Given the description of an element on the screen output the (x, y) to click on. 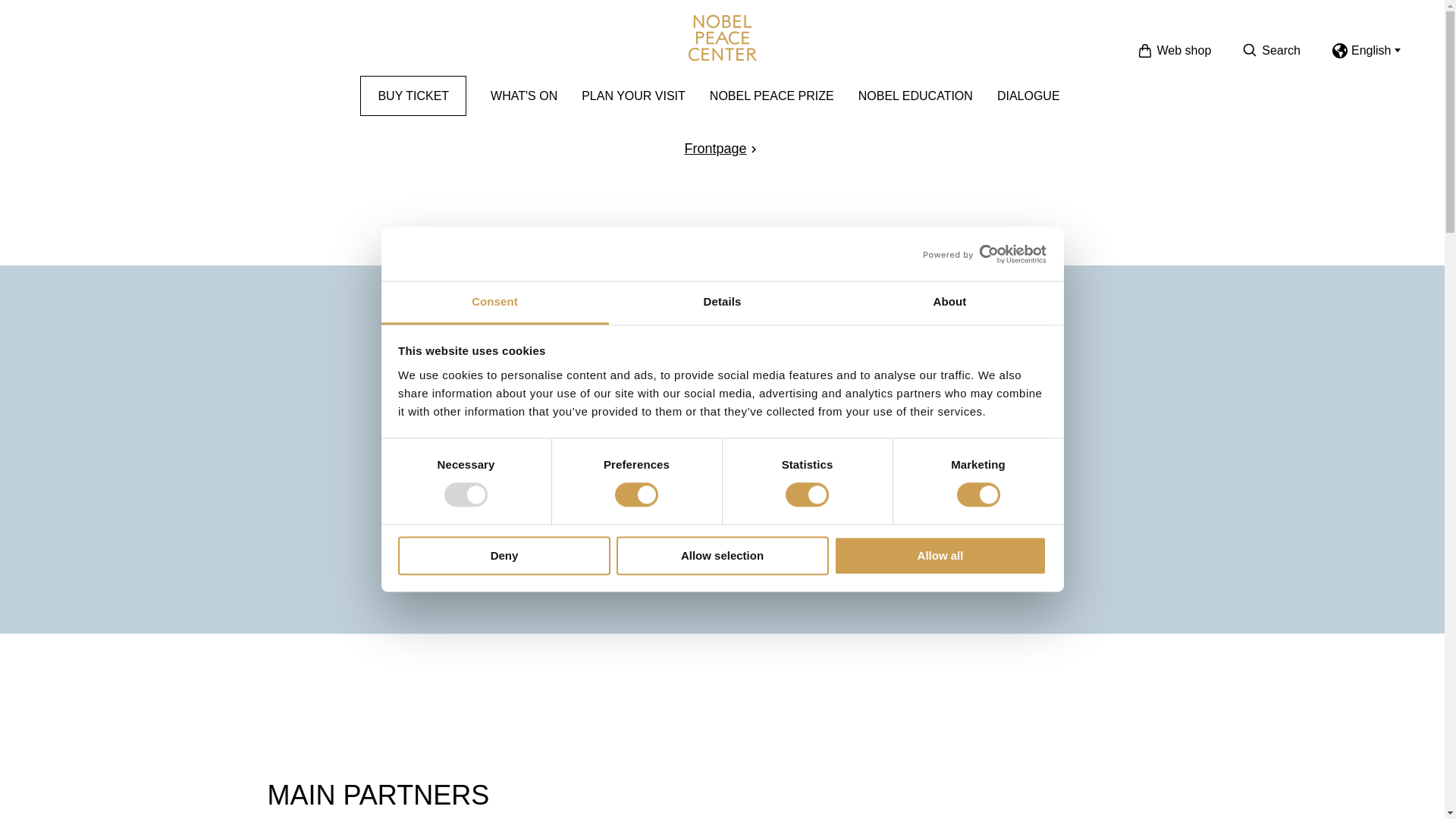
Details (721, 302)
Consent (494, 302)
About (948, 302)
